Given the description of an element on the screen output the (x, y) to click on. 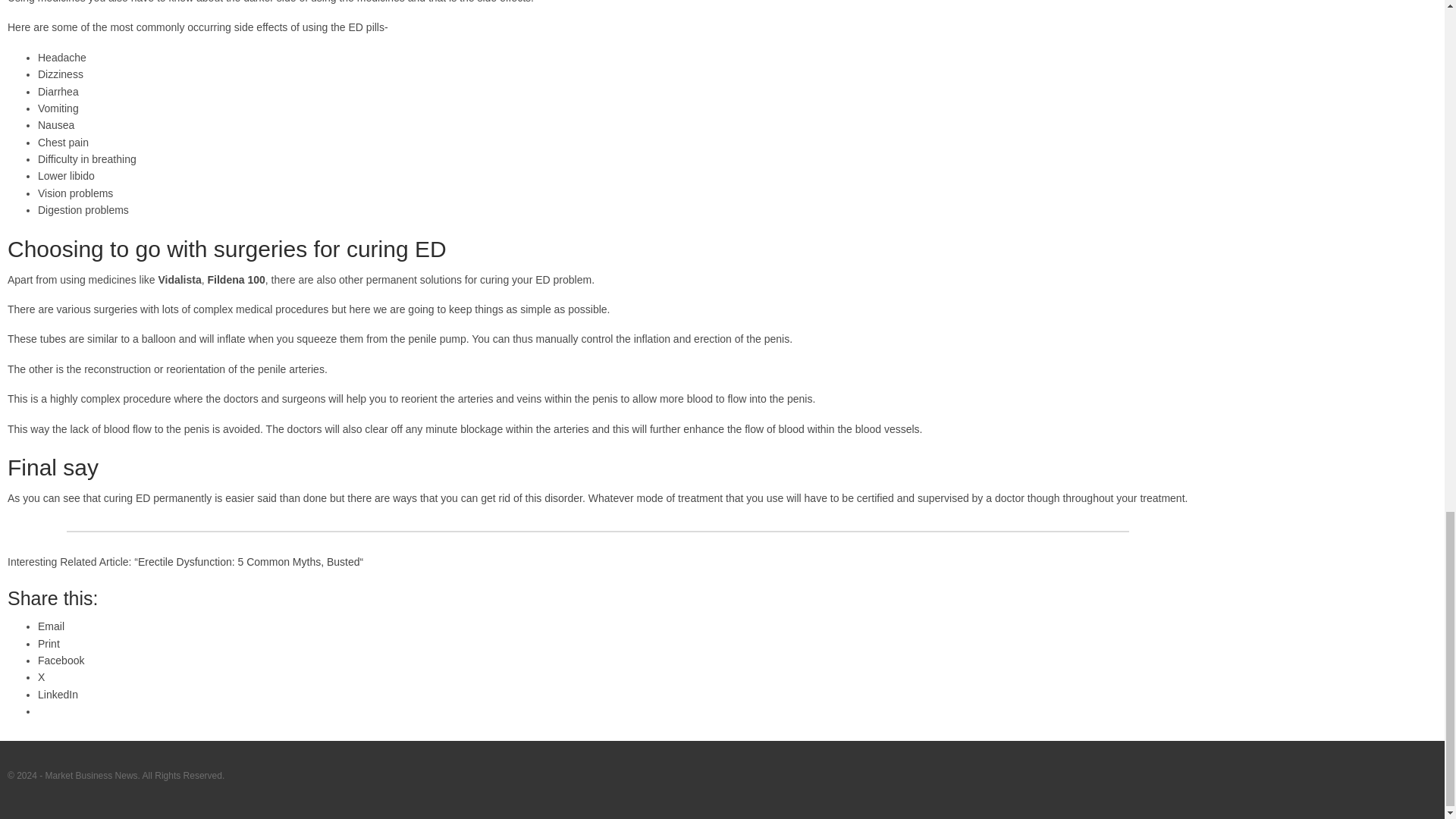
Click to print (48, 644)
LinkedIn (57, 694)
Print (48, 644)
Fildena 100 (236, 279)
Click to share on Facebook (60, 660)
Erectile Dysfunction: 5 Common Myths, Busted (248, 562)
Email (50, 625)
Click to email a link to a friend (50, 625)
Click to share on LinkedIn (57, 694)
Facebook (60, 660)
